Given the description of an element on the screen output the (x, y) to click on. 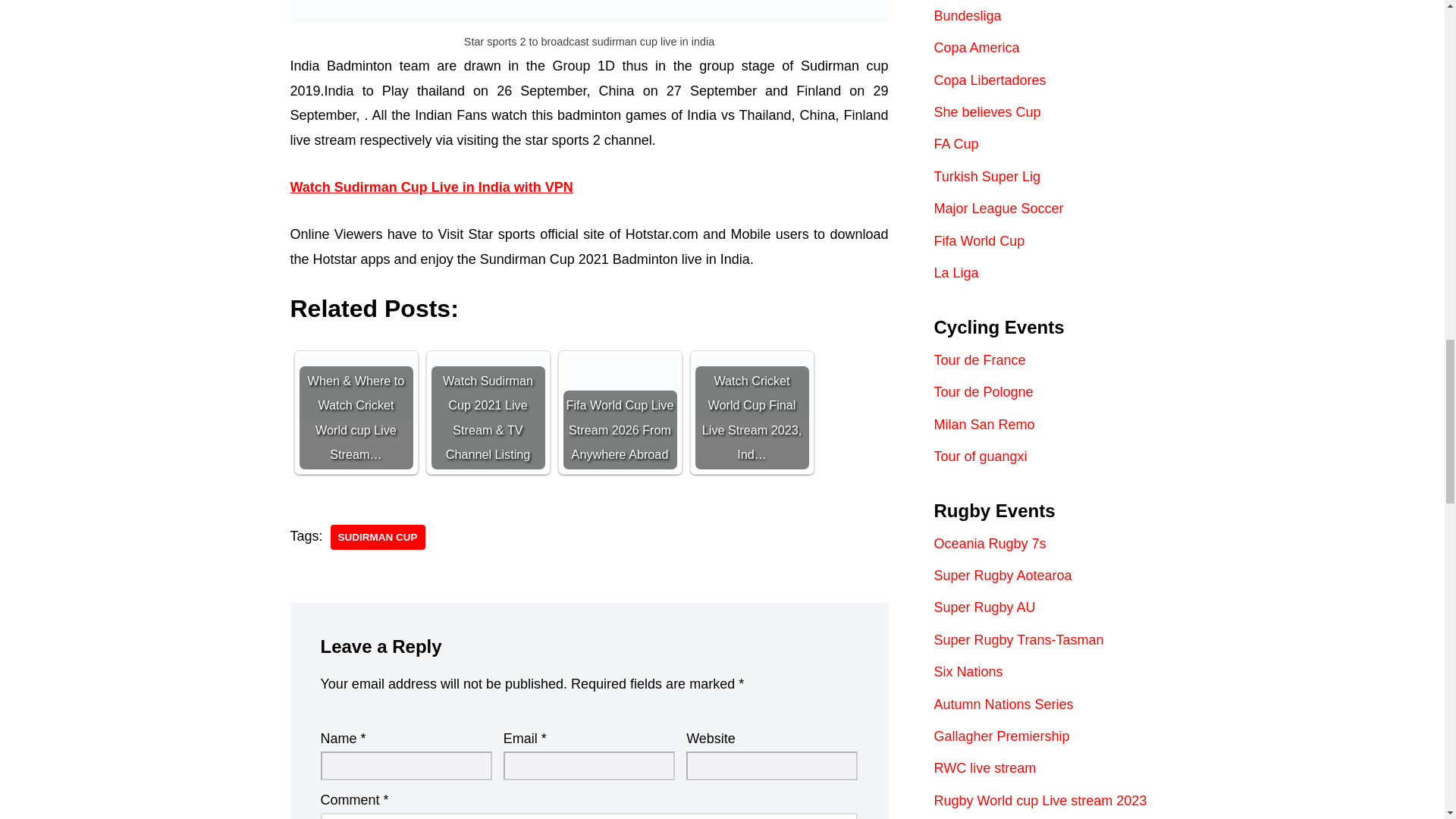
Fifa World Cup Live Stream 2026 From Anywhere Abroad (619, 411)
Watch Sudirman Cup Live in India with VPN (430, 186)
SUDIRMAN CUP (377, 537)
Star sports 2 to broadcast sudirman cup live in india (588, 11)
Fifa World Cup Live Stream 2026 From Anywhere Abroad (619, 411)
sudirman cup (377, 537)
